Given the description of an element on the screen output the (x, y) to click on. 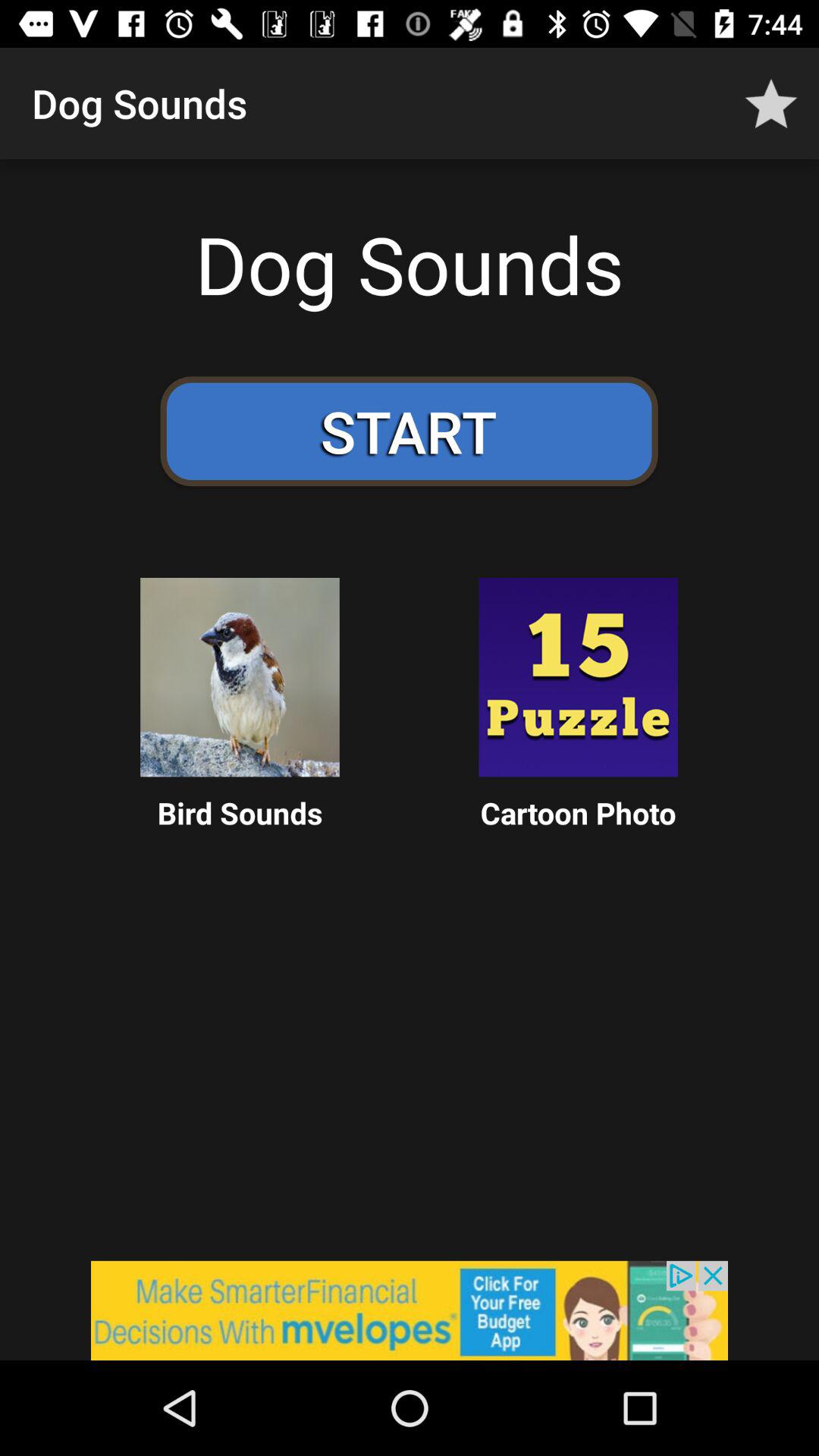
click the bird sounds (239, 676)
